Given the description of an element on the screen output the (x, y) to click on. 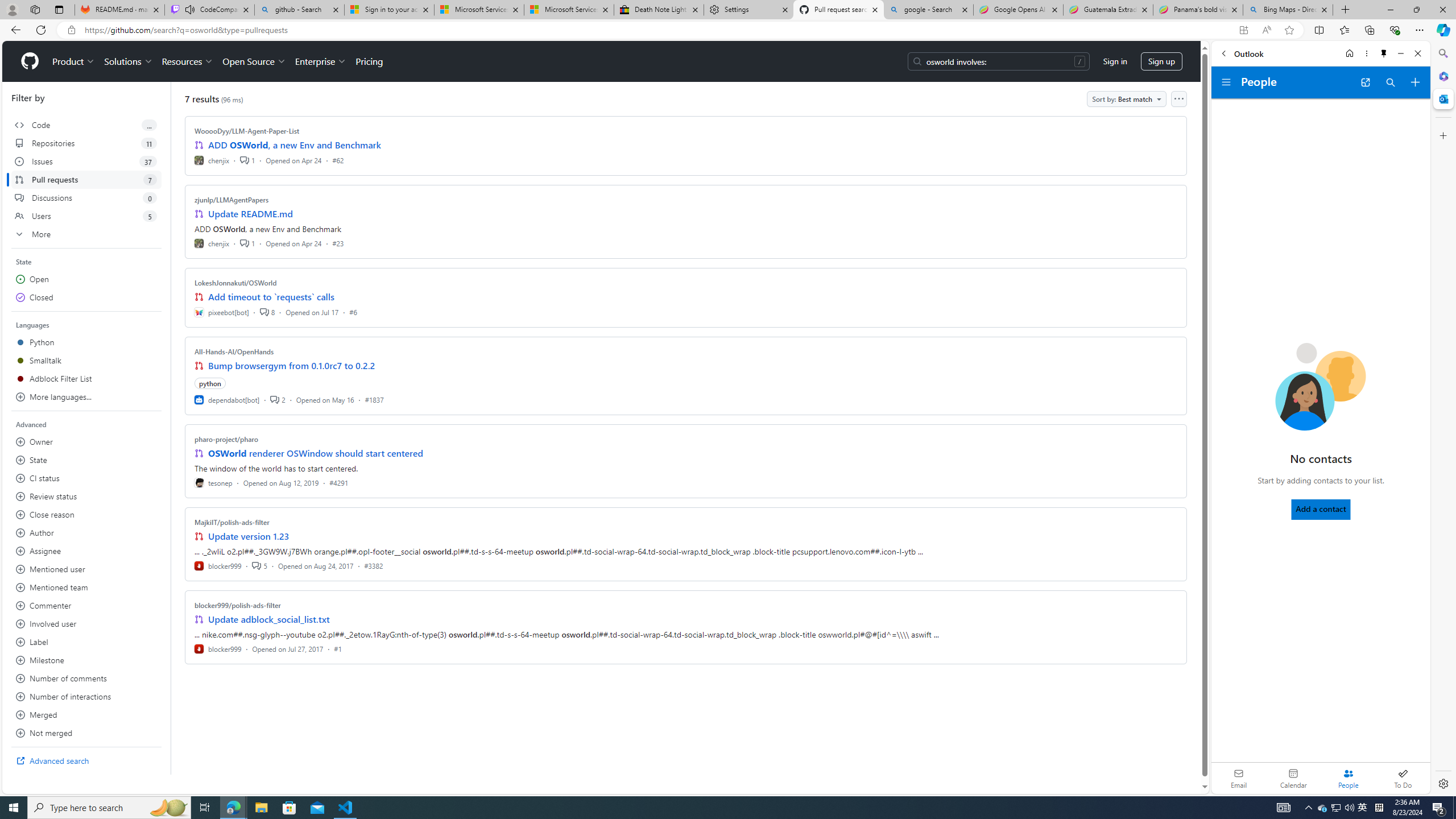
Update version 1.23 (248, 535)
LokeshJonnakuti/OSWorld (235, 282)
Homepage (29, 61)
github - Search (298, 9)
Add timeout to `requests` calls (271, 296)
Sign up (1161, 61)
